Given the description of an element on the screen output the (x, y) to click on. 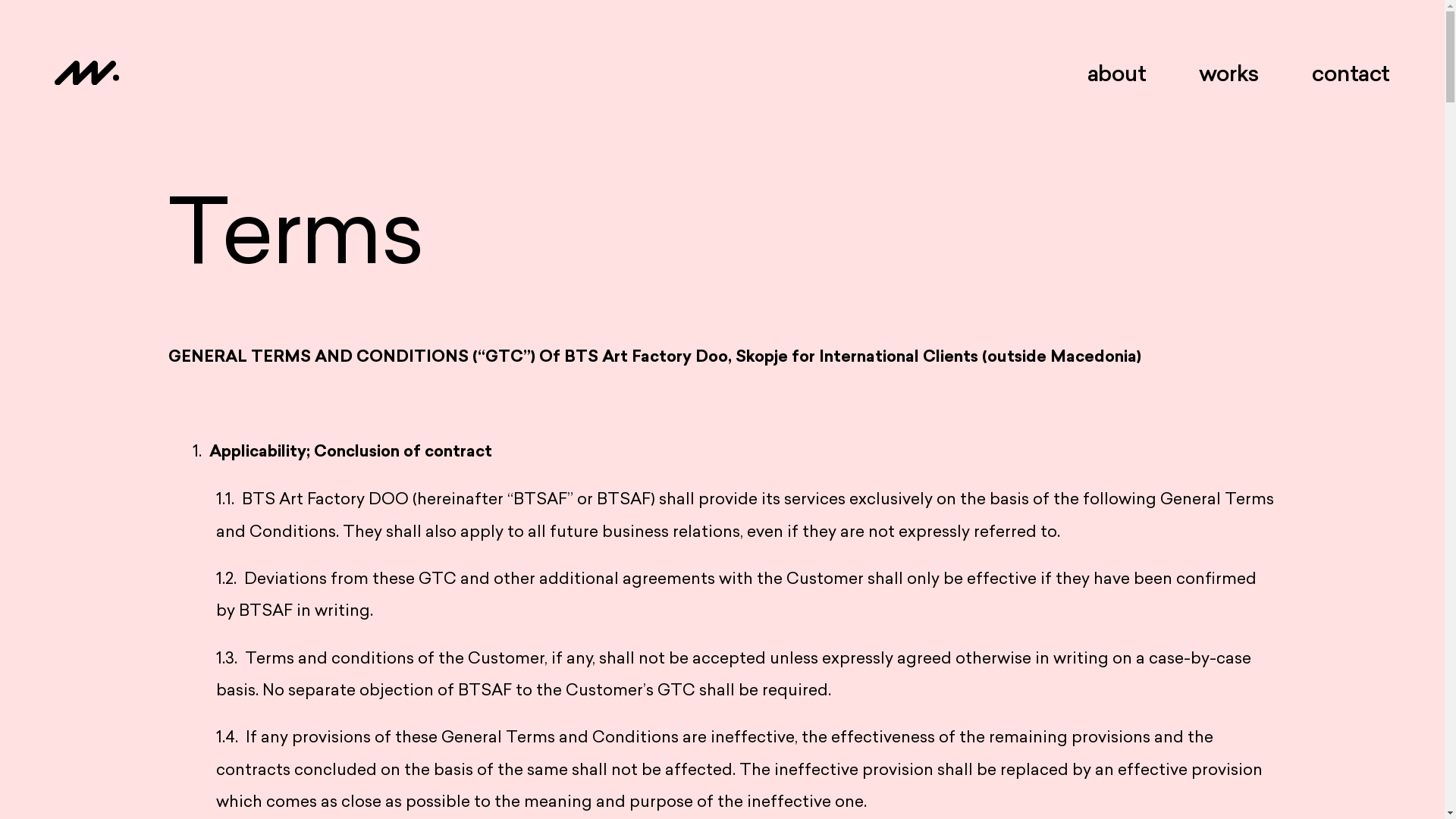
about Element type: text (1116, 72)
contact Element type: text (1350, 72)
works Element type: text (1228, 72)
